Given the description of an element on the screen output the (x, y) to click on. 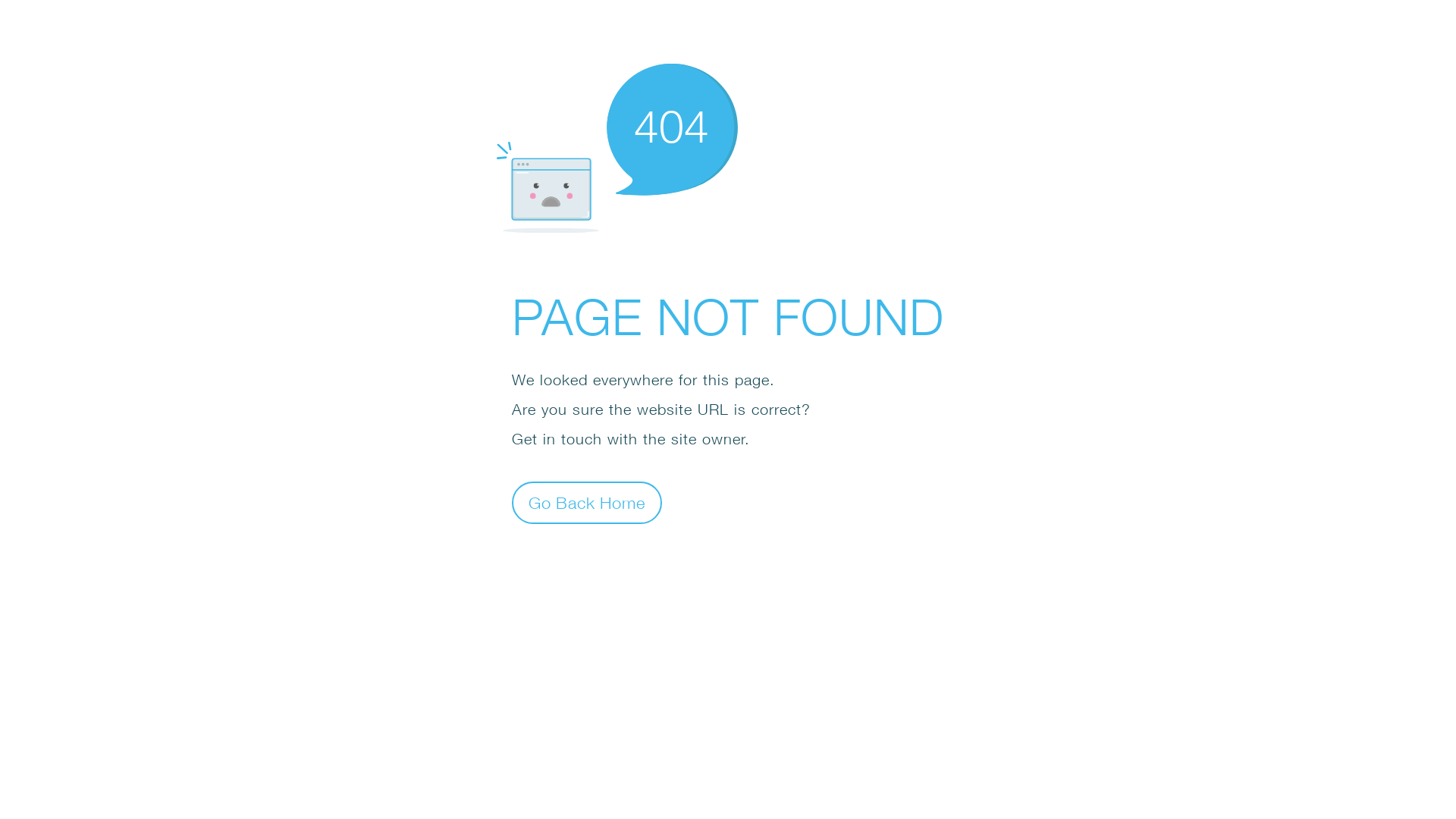
Go Back Home Element type: text (586, 502)
